Given the description of an element on the screen output the (x, y) to click on. 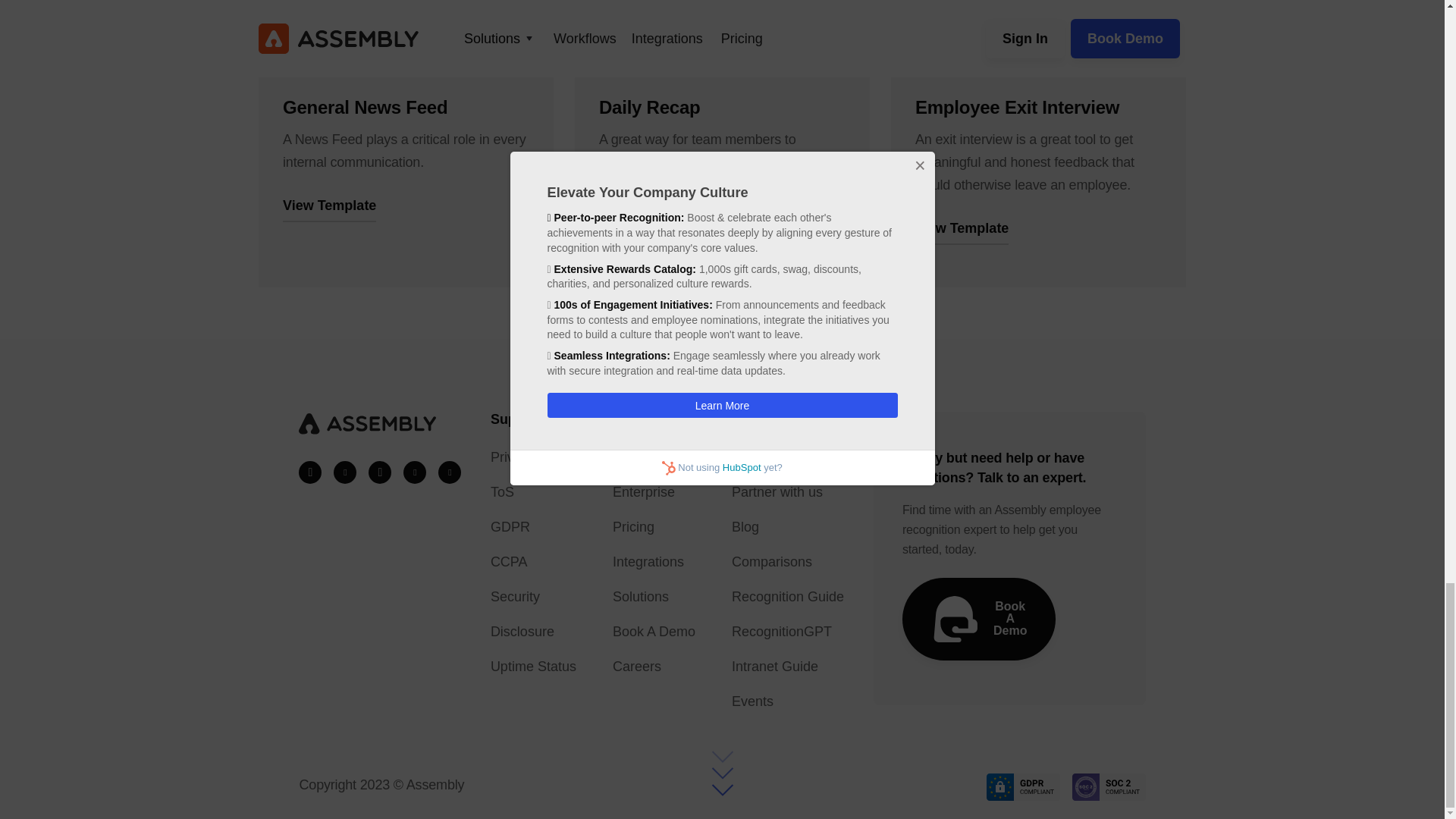
Home (653, 456)
Disclosure (533, 630)
ToS (533, 491)
Privacy Policy (533, 456)
Pricing (653, 526)
CCPA (533, 561)
Enterprise (653, 491)
Security (533, 596)
Uptime Status (533, 666)
GDPR (533, 526)
